Given the description of an element on the screen output the (x, y) to click on. 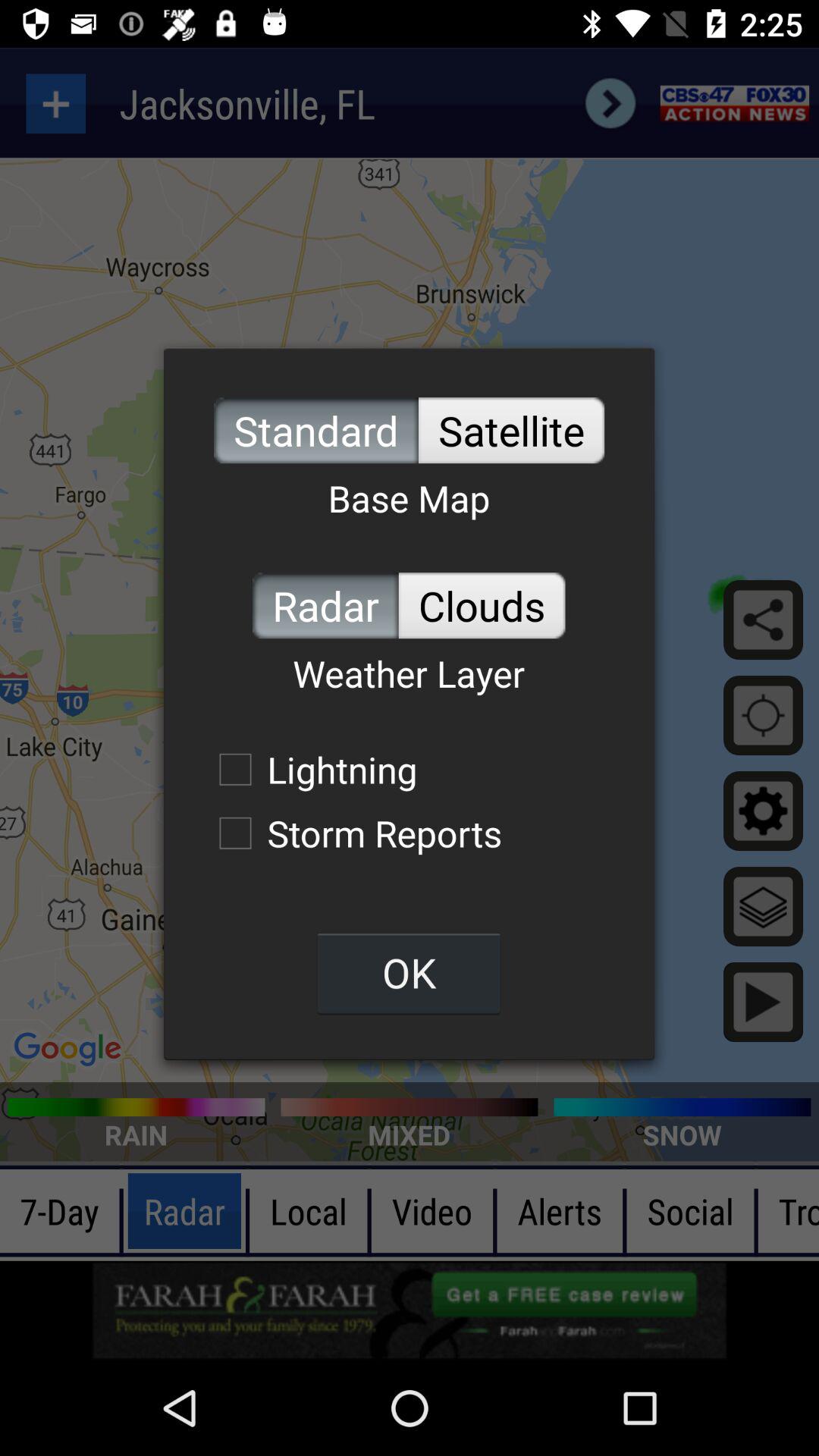
open the standard item (315, 430)
